Given the description of an element on the screen output the (x, y) to click on. 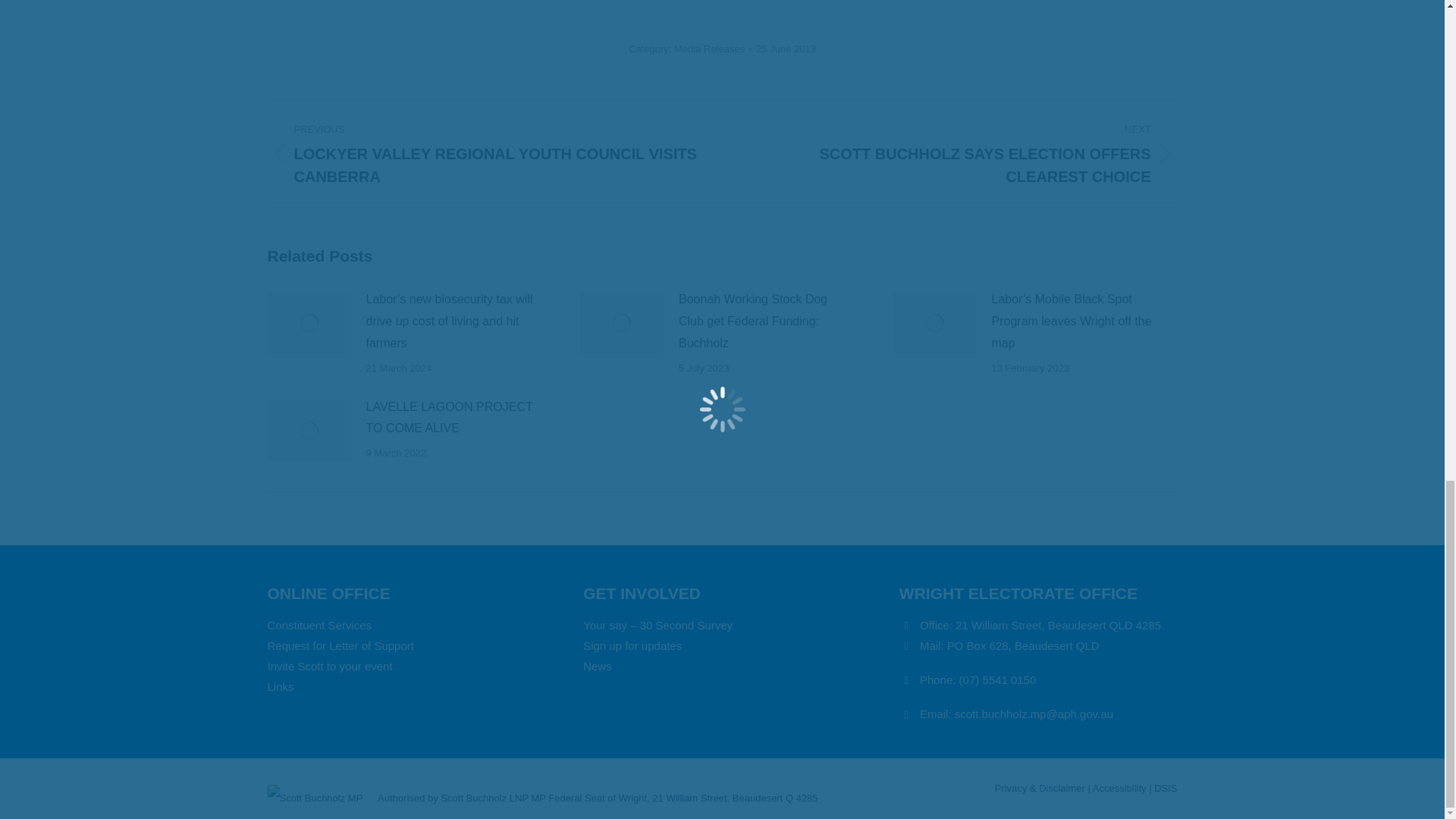
12:00 am (785, 48)
